Given the description of an element on the screen output the (x, y) to click on. 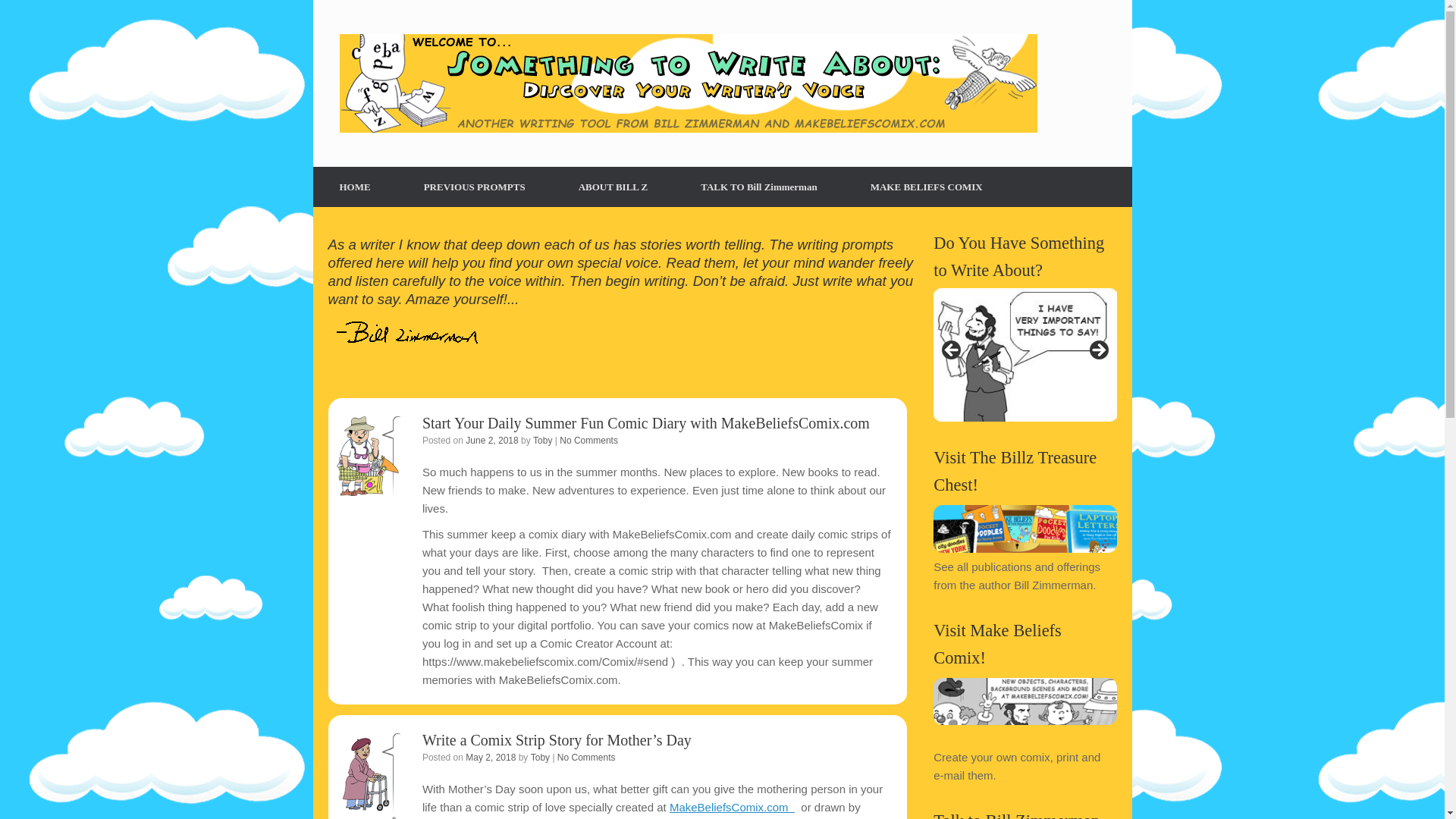
View all posts by Toby (540, 757)
MakeBeliefsComix.com   (731, 807)
HOME (354, 187)
No Comments (588, 439)
PREVIOUS PROMPTS (474, 187)
11:52 AM (491, 439)
June 2, 2018 (491, 439)
TALK TO Bill Zimmerman (759, 187)
ABOUT BILL Z (613, 187)
May 2, 2018 (490, 757)
No Comments (586, 757)
Toby (540, 757)
View all posts by Toby (541, 439)
Toby (541, 439)
